Given the description of an element on the screen output the (x, y) to click on. 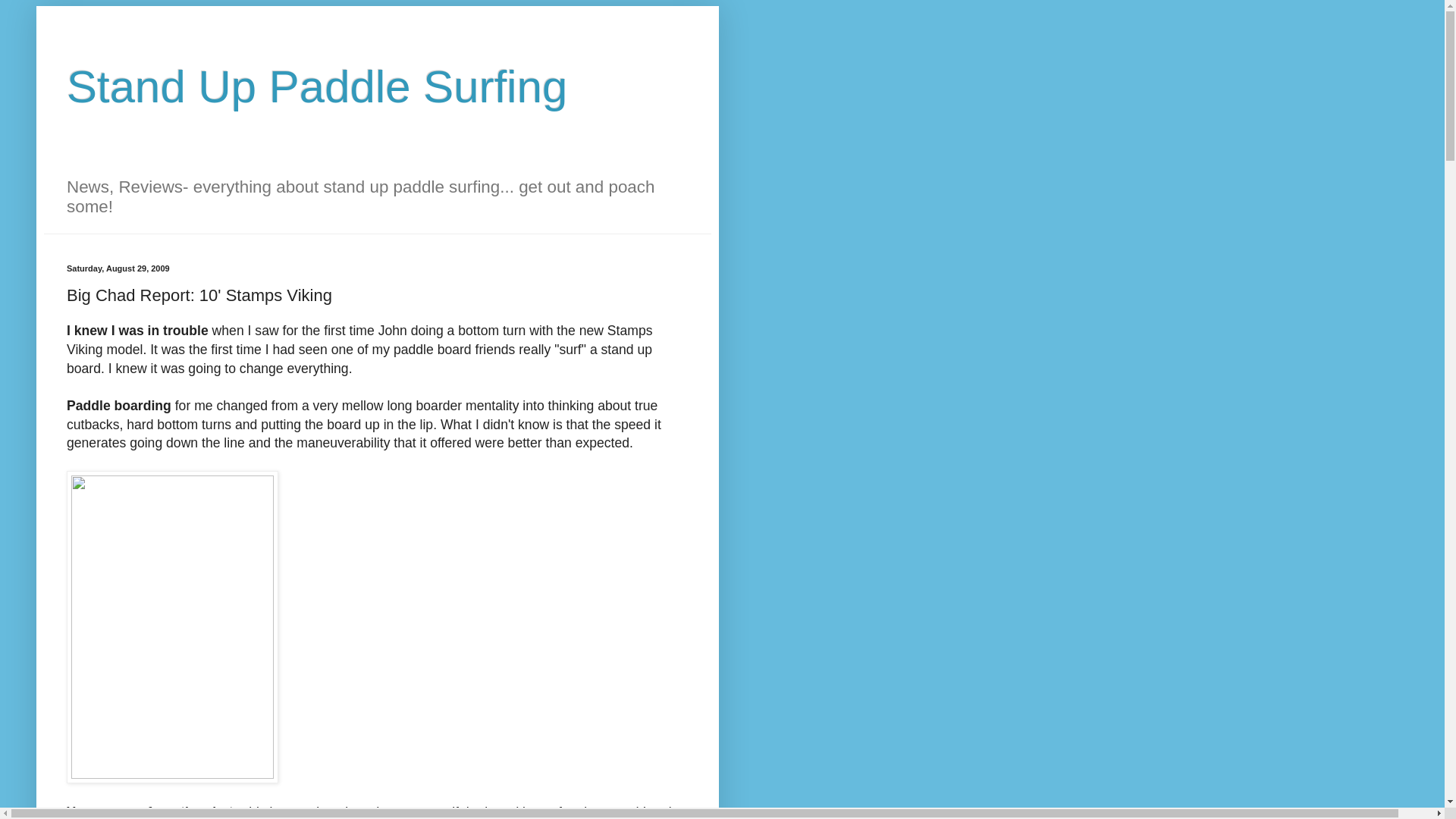
Stand Up Paddle Surfing (316, 86)
